Given the description of an element on the screen output the (x, y) to click on. 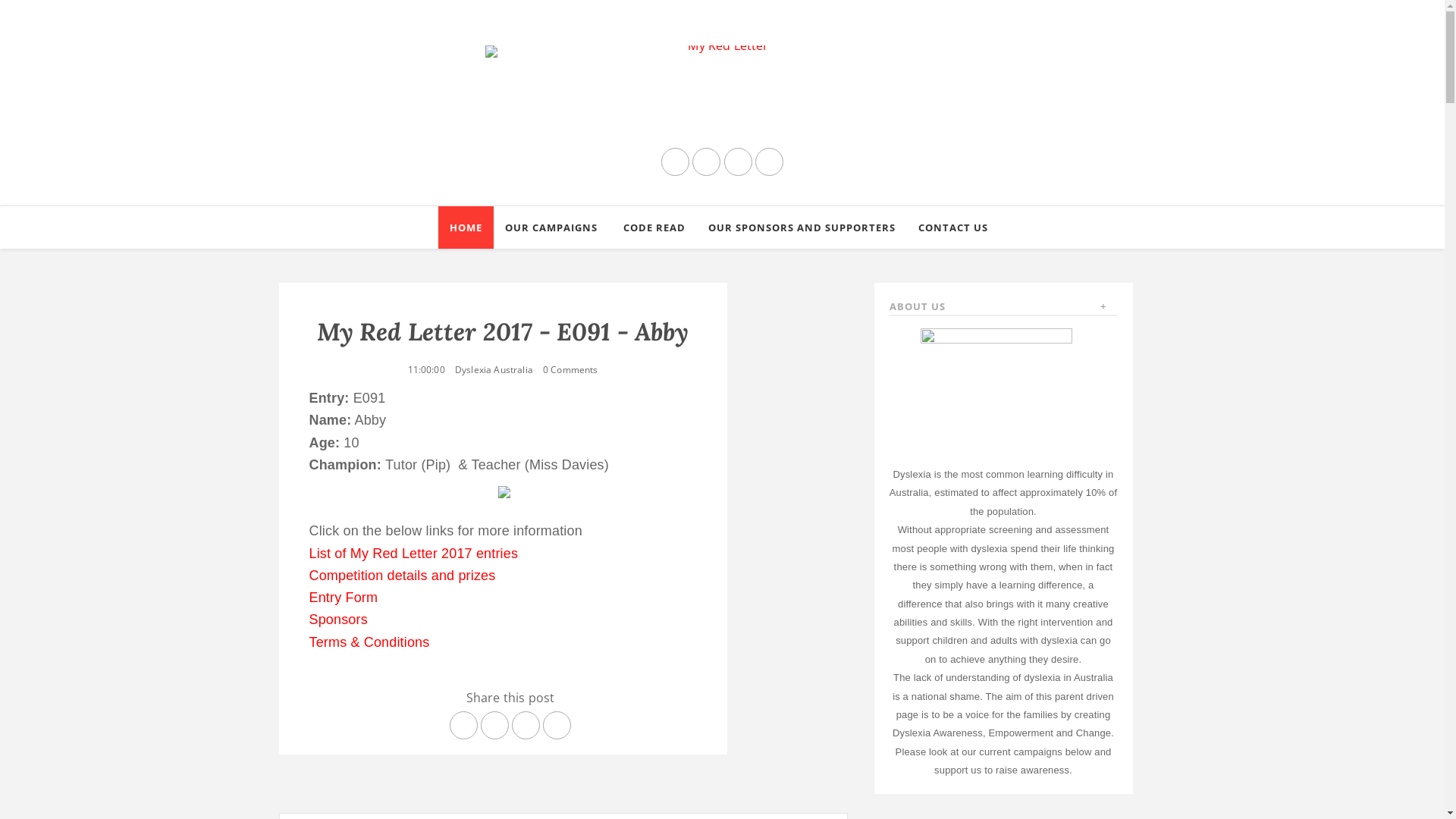
CONTACT US Element type: text (952, 227)
OUR CAMPAIGNS Element type: text (551, 227)
HOME Element type: text (465, 227)
Sponsors Element type: text (338, 619)
Terms & Conditions Element type: text (369, 641)
OUR SPONSORS AND SUPPORTERS Element type: text (801, 227)
CODE READ Element type: text (653, 227)
List of My Red Letter 2017 entries Element type: text (413, 553)
Competition details and prizes Element type: text (402, 575)
Entry Form Element type: text (343, 597)
